Given the description of an element on the screen output the (x, y) to click on. 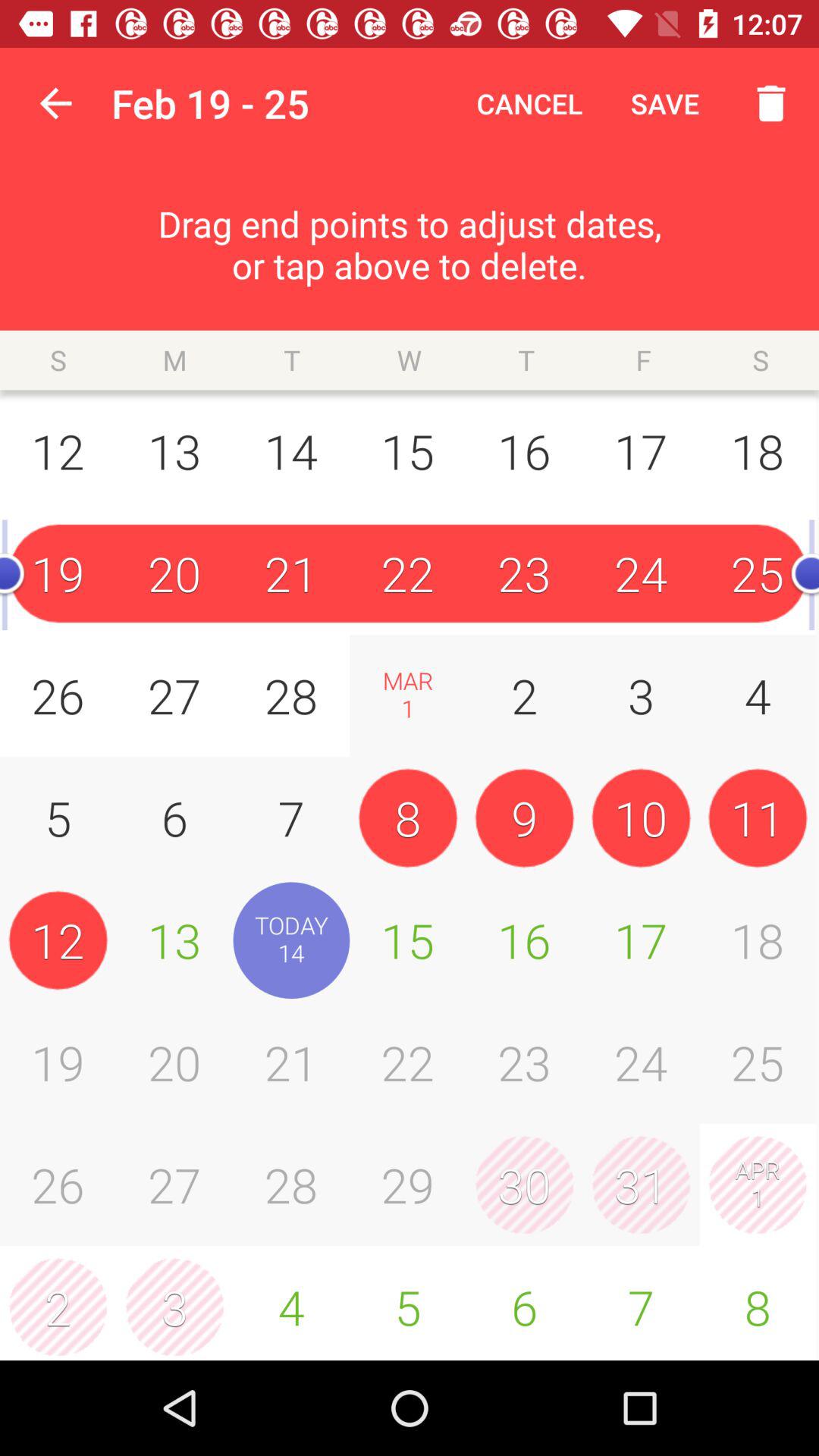
tap cancel icon (529, 103)
